Given the description of an element on the screen output the (x, y) to click on. 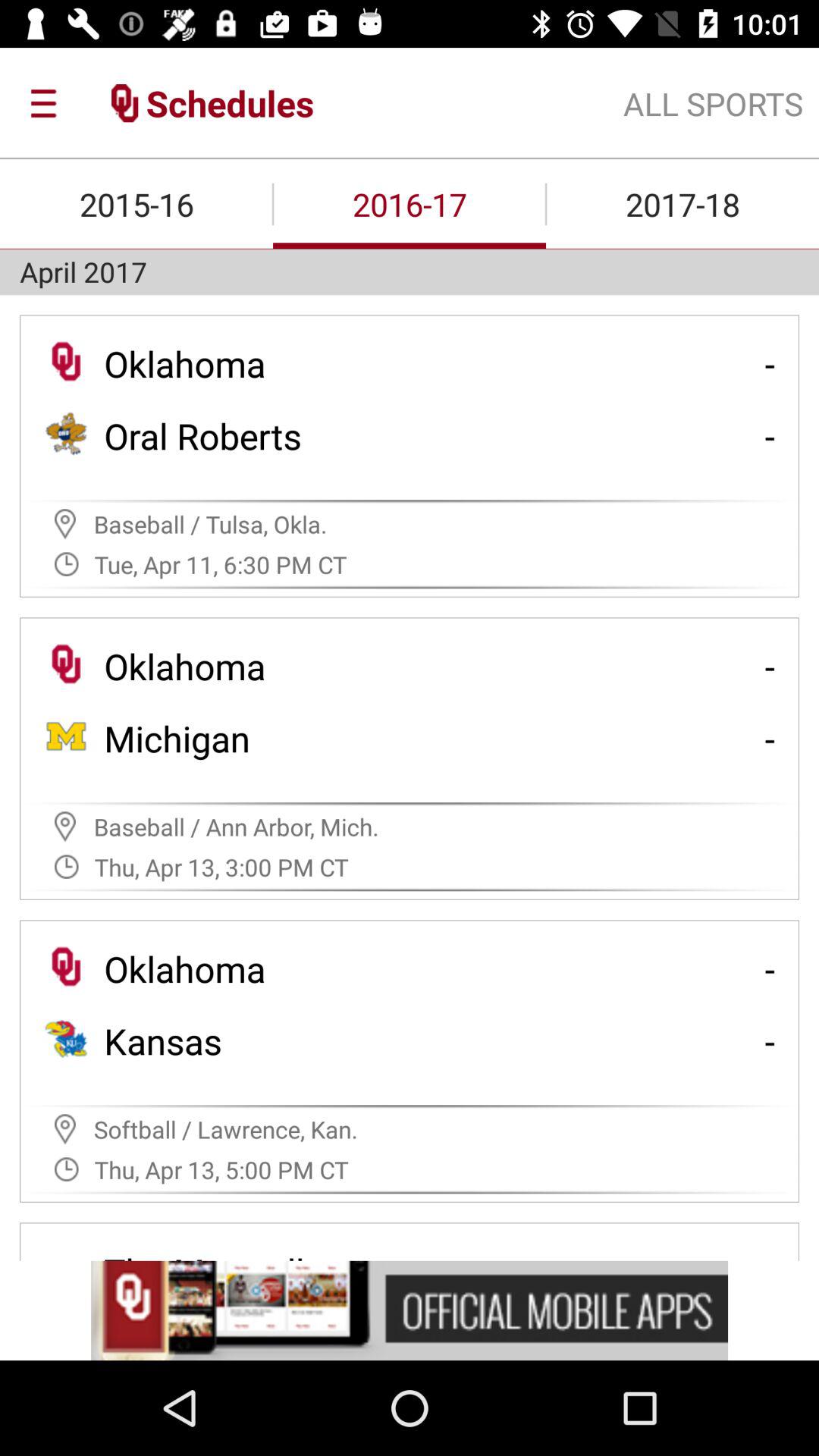
adverdasmamd (409, 1310)
